Given the description of an element on the screen output the (x, y) to click on. 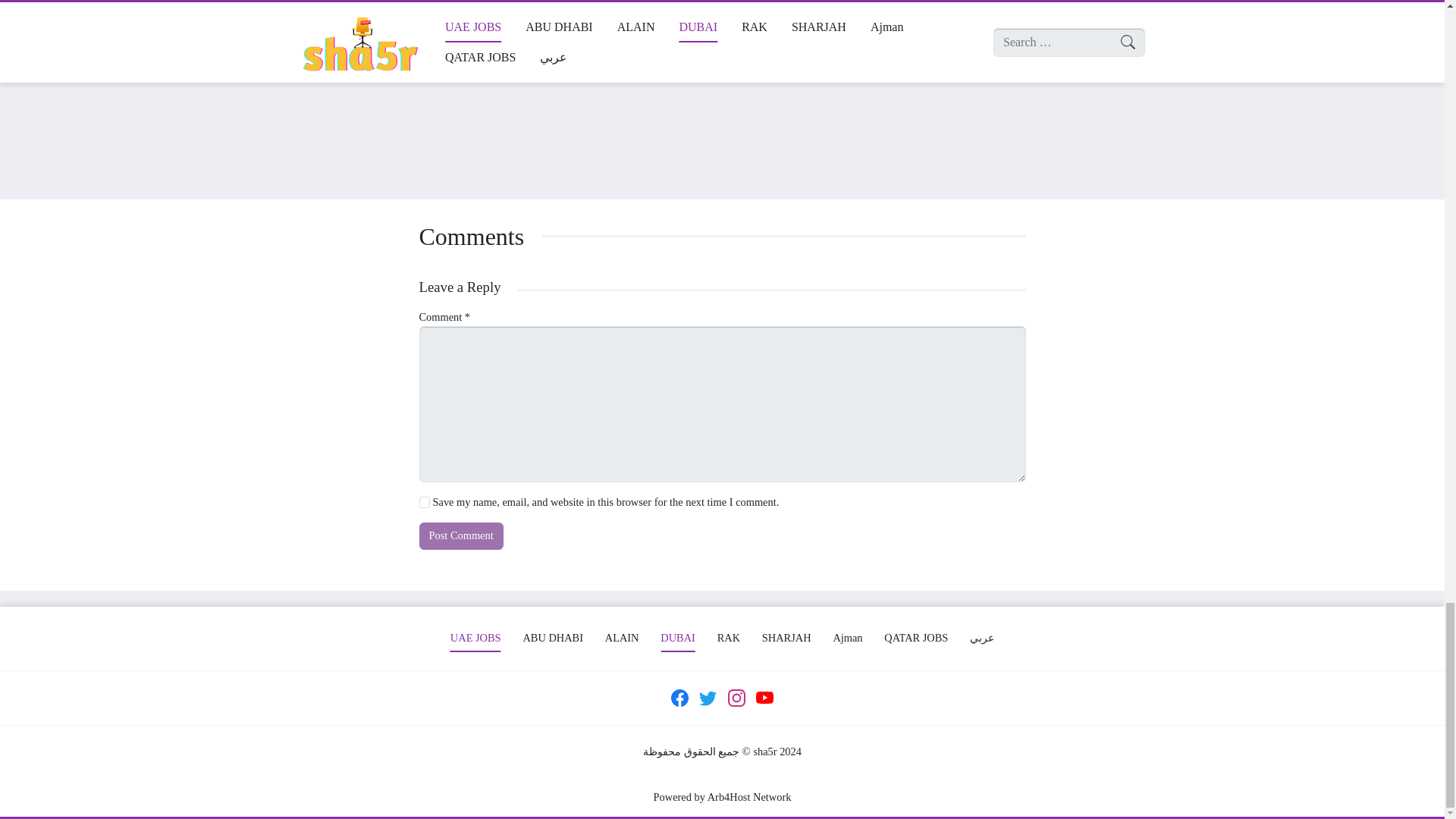
Post Comment (460, 535)
yes (424, 501)
